Given the description of an element on the screen output the (x, y) to click on. 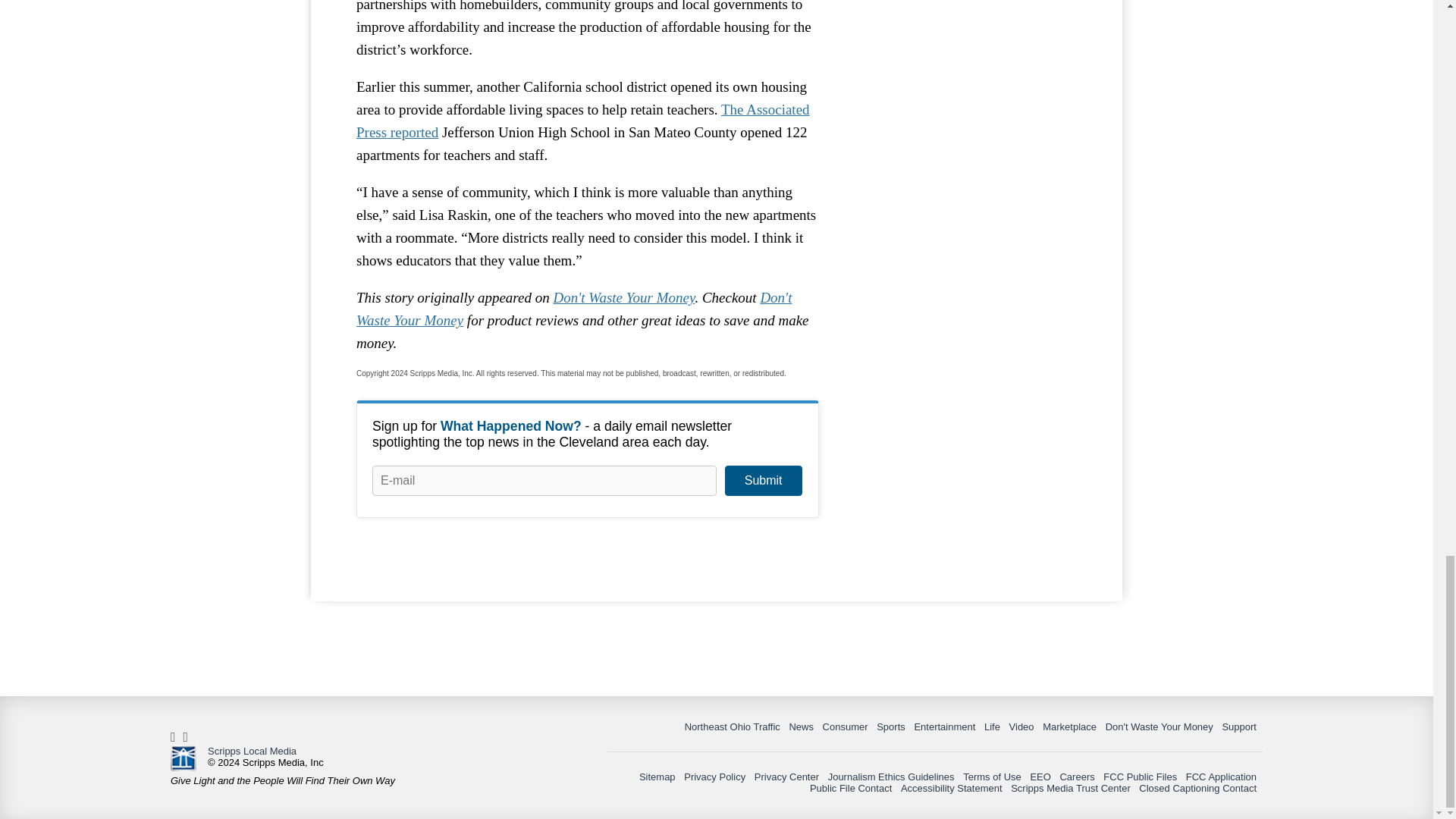
Submit (763, 481)
